Given the description of an element on the screen output the (x, y) to click on. 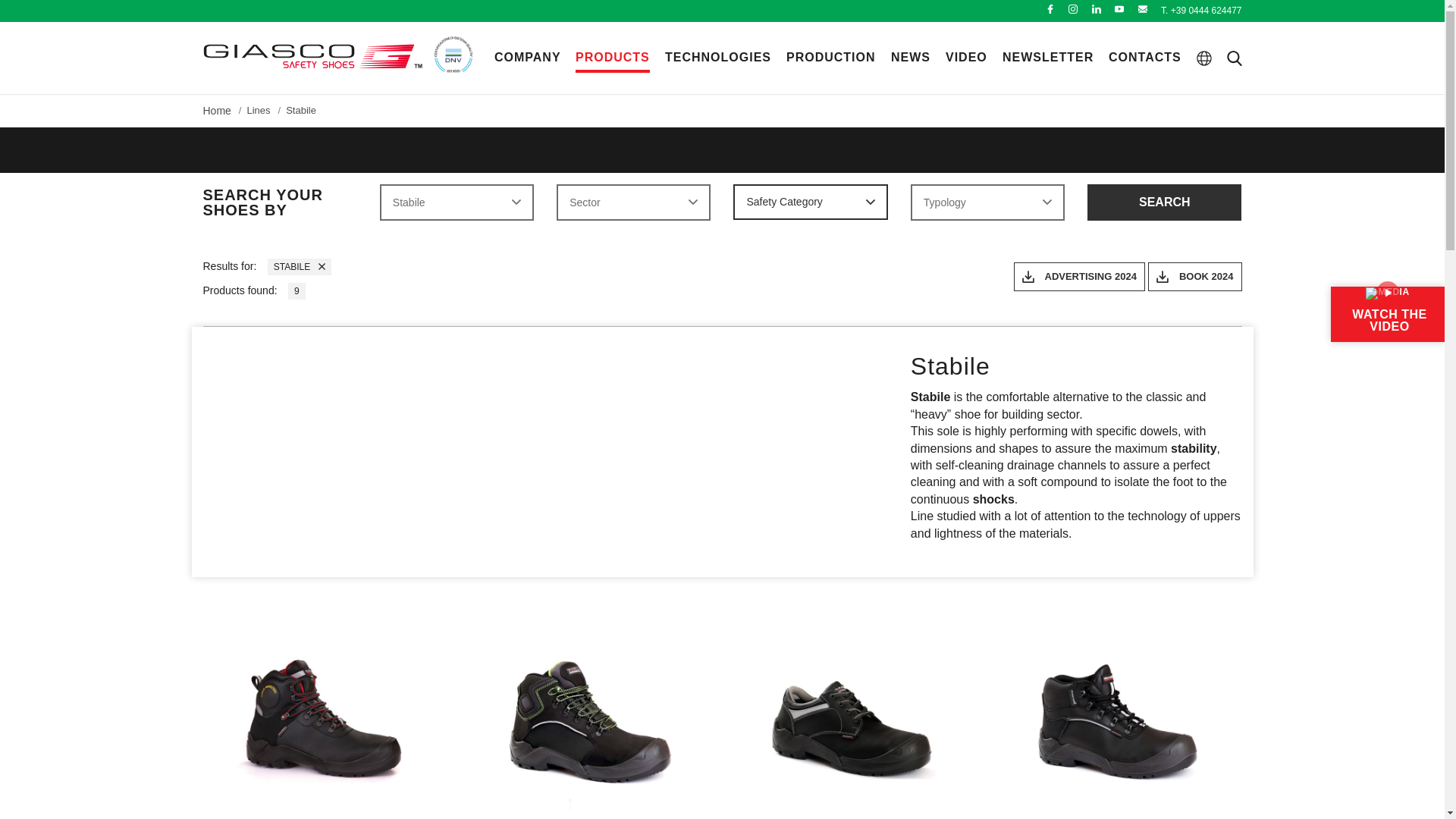
Homepage (313, 56)
PRODUCTS (612, 56)
YouTube (1119, 8)
Facebook (1049, 8)
Giasco Srl (313, 56)
Company (527, 56)
Instagram (1072, 8)
COMPANY (527, 56)
Linkedin (1096, 8)
